Given the description of an element on the screen output the (x, y) to click on. 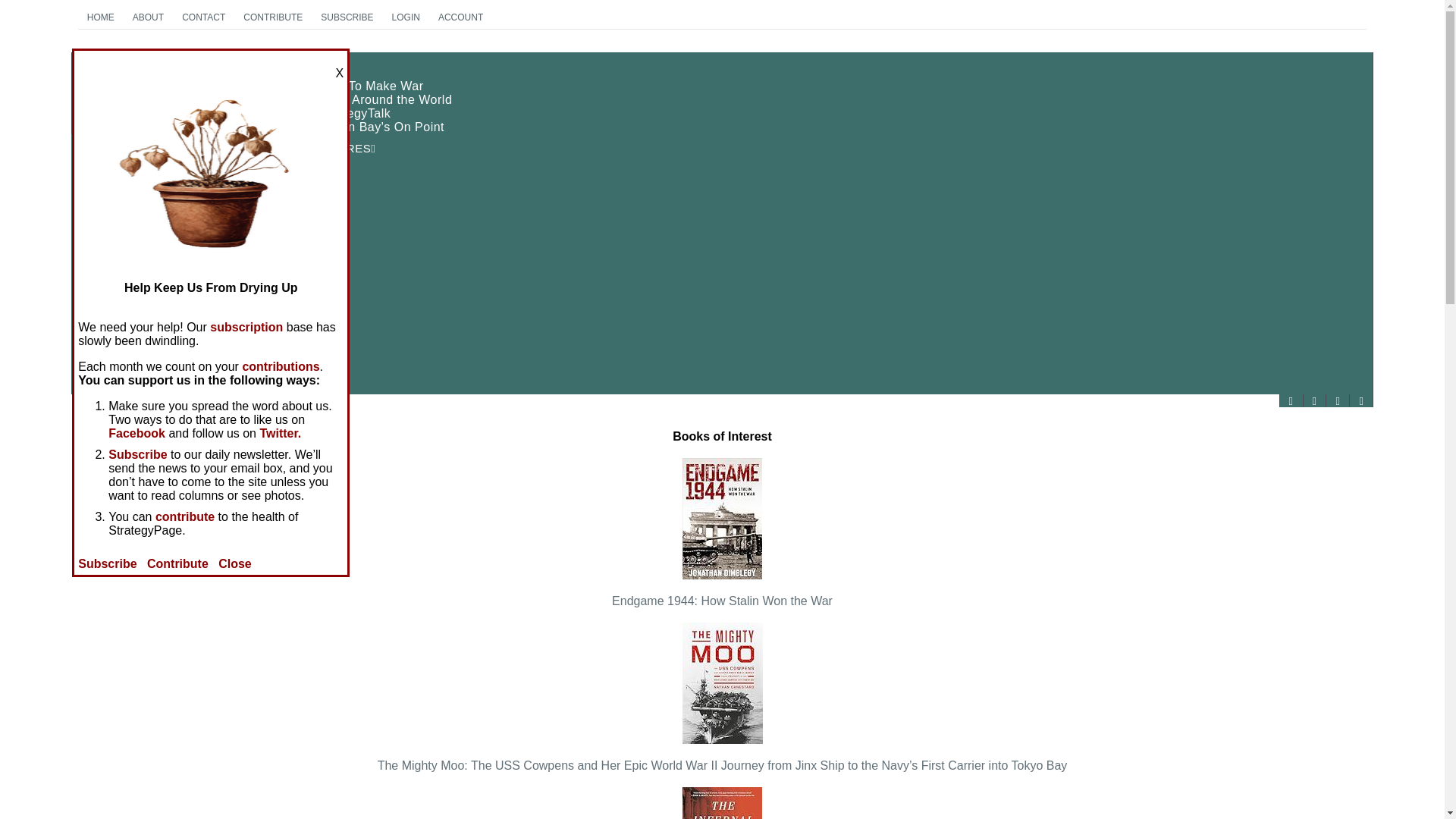
How To Make War (370, 86)
OTHER (722, 257)
Advertise with Us (132, 386)
NEWS (722, 66)
Toggle navigation (175, 83)
SUBSCRIBE (106, 126)
Military Book Reviews (346, 16)
PHOTOS (146, 195)
StrategyTalk (722, 230)
RESOURCES (354, 113)
Endgame 1944: How Stalin Won the War (722, 312)
Austin Bay's On Point (99, 373)
